Given the description of an element on the screen output the (x, y) to click on. 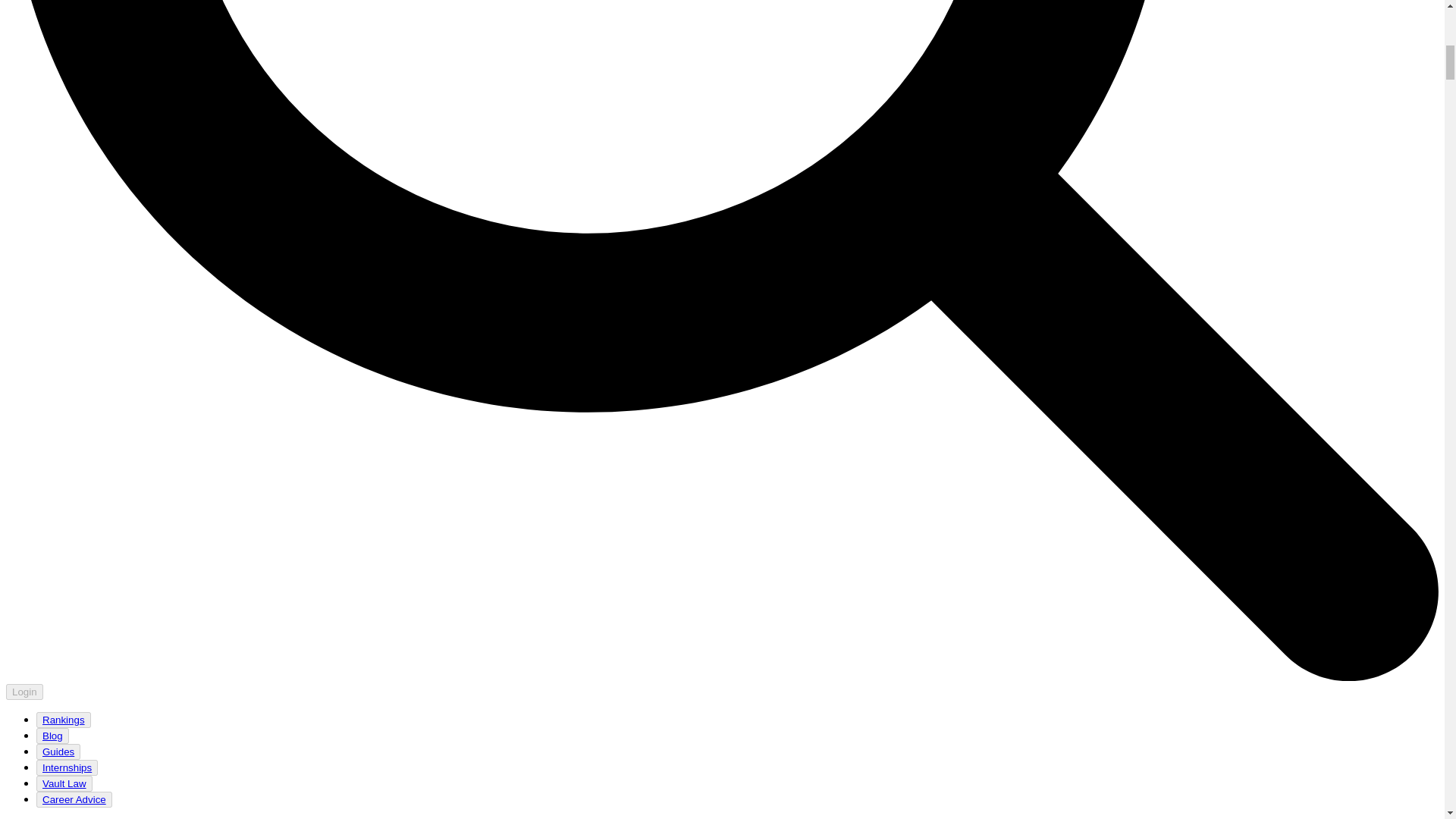
Internships (66, 767)
Blog (52, 736)
Internships (66, 767)
Vault Law (63, 783)
Blog (52, 735)
Career Advice (74, 799)
Career Advice (74, 799)
Rankings (63, 719)
Vault Law (64, 783)
Login (24, 690)
